Given the description of an element on the screen output the (x, y) to click on. 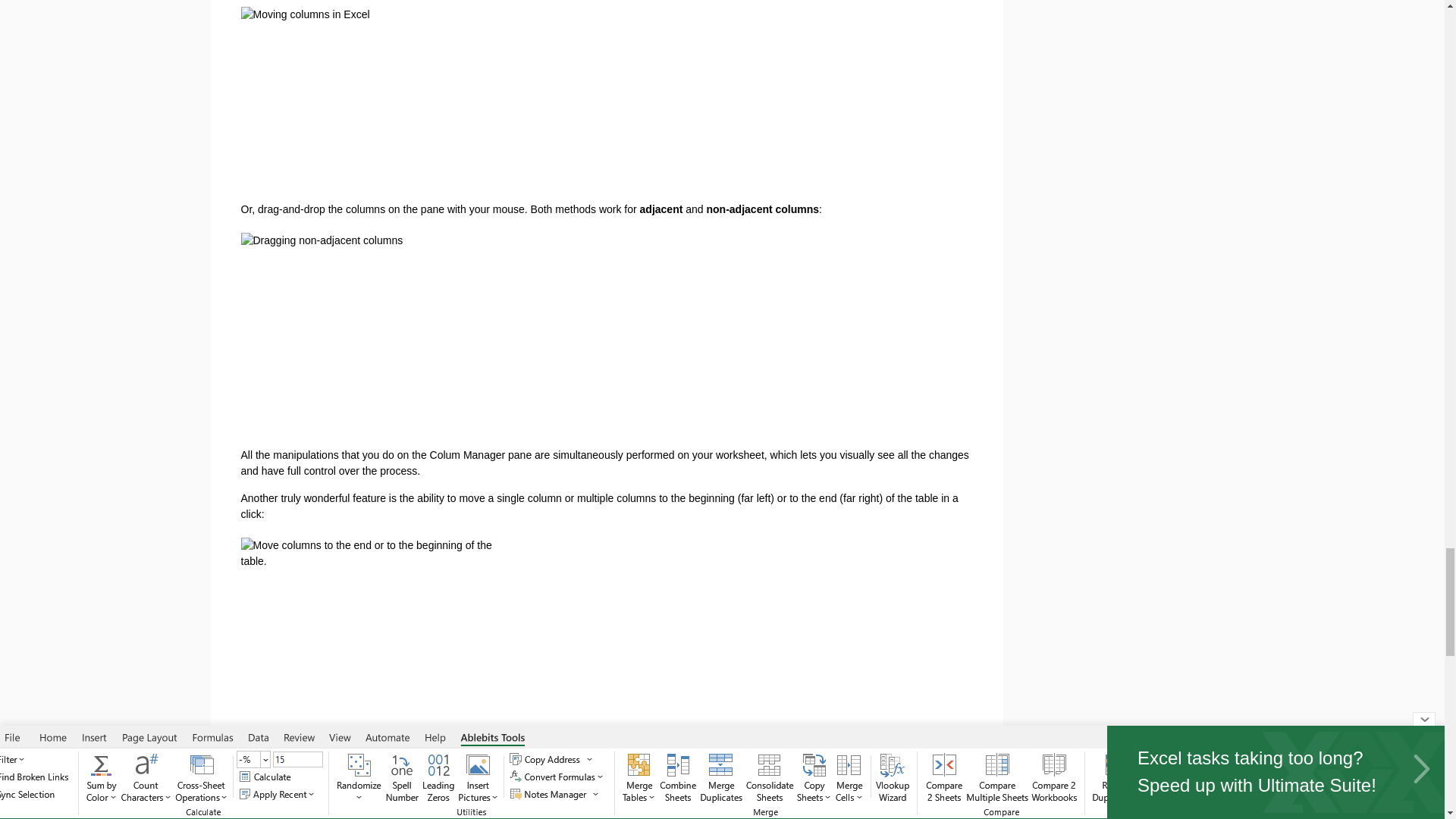
Moving columns in Excel (444, 98)
Dragging non-adjacent columns (373, 333)
Move columns to the end or to the beginning of the table. (373, 634)
Autofit column width (247, 764)
